Given the description of an element on the screen output the (x, y) to click on. 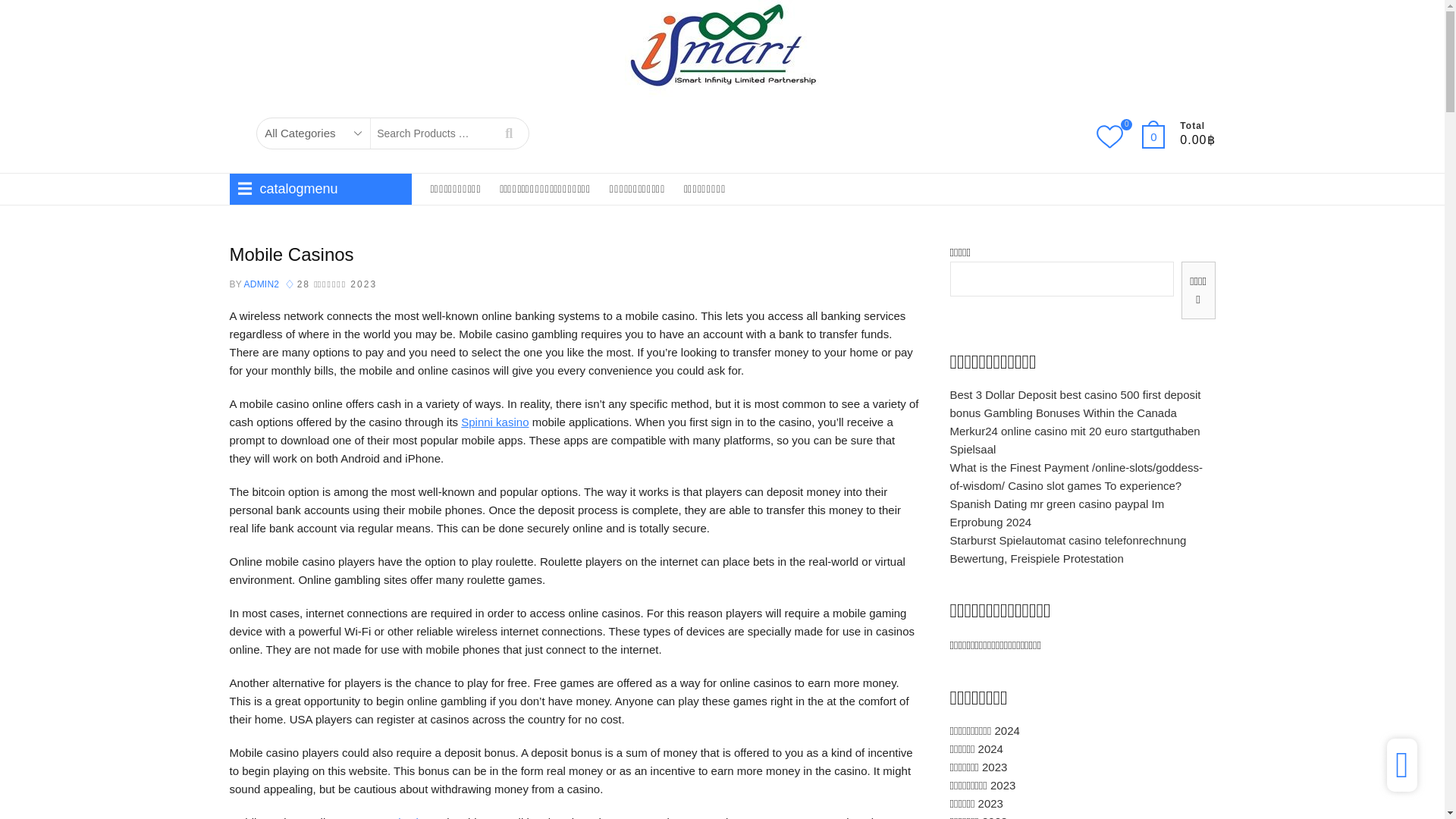
catalogmenu (319, 188)
admin2 (260, 284)
888 kazino (402, 817)
Spinni kasino (494, 421)
Search (508, 132)
Merkur24 online casino mit 20 euro startguthaben Spielsaal (1074, 440)
0 (1117, 138)
Spanish Dating mr green casino paypal Im Erprobung 2024 (1056, 512)
0 (1160, 136)
ADMIN2 (260, 284)
